Given the description of an element on the screen output the (x, y) to click on. 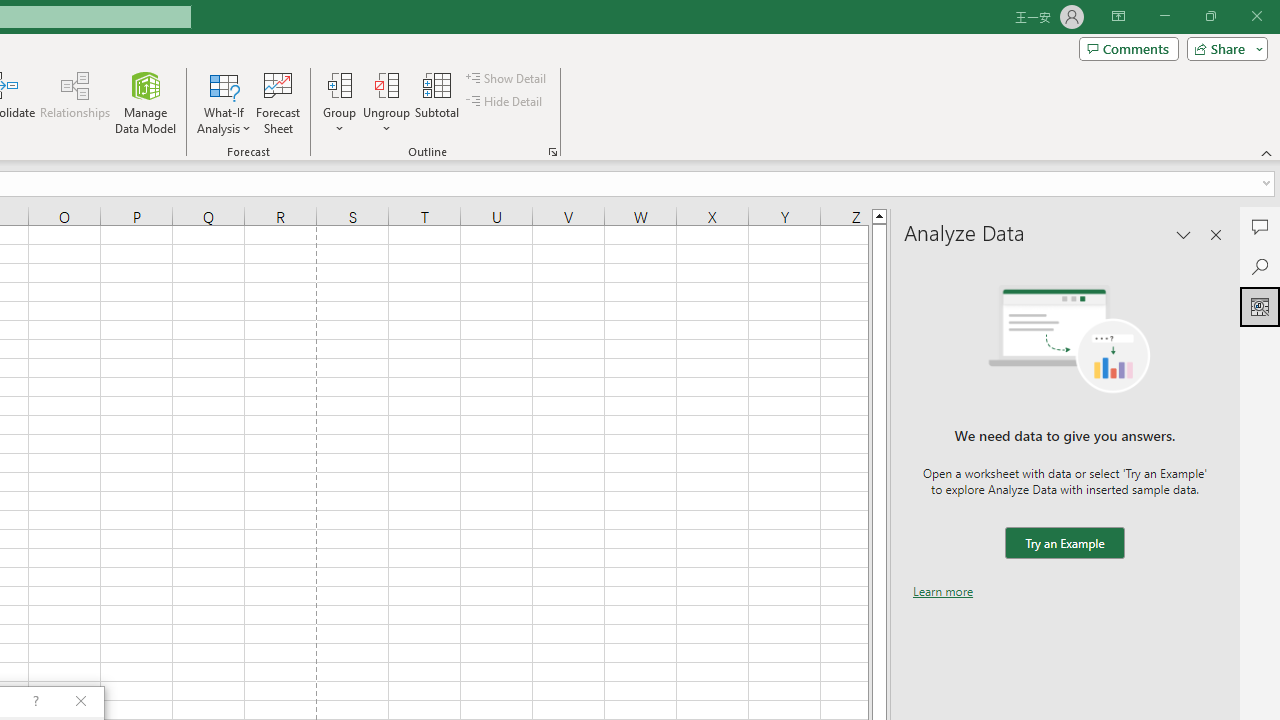
Learn more (943, 591)
Relationships (75, 102)
Subtotal (437, 102)
Forecast Sheet (278, 102)
Manage Data Model (145, 102)
